Given the description of an element on the screen output the (x, y) to click on. 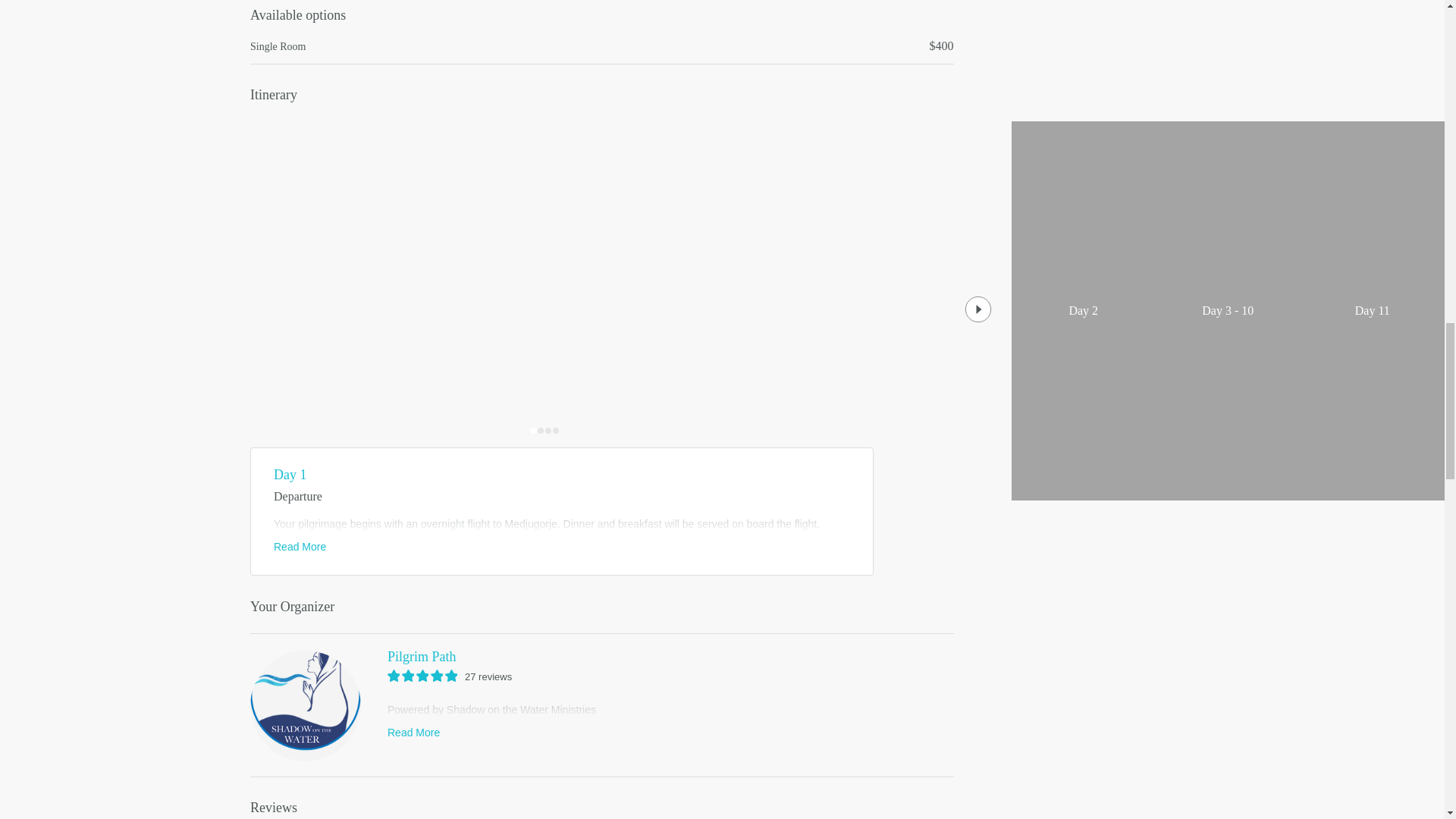
Read More (413, 732)
Pilgrim Path (601, 656)
Read More (299, 546)
